Given the description of an element on the screen output the (x, y) to click on. 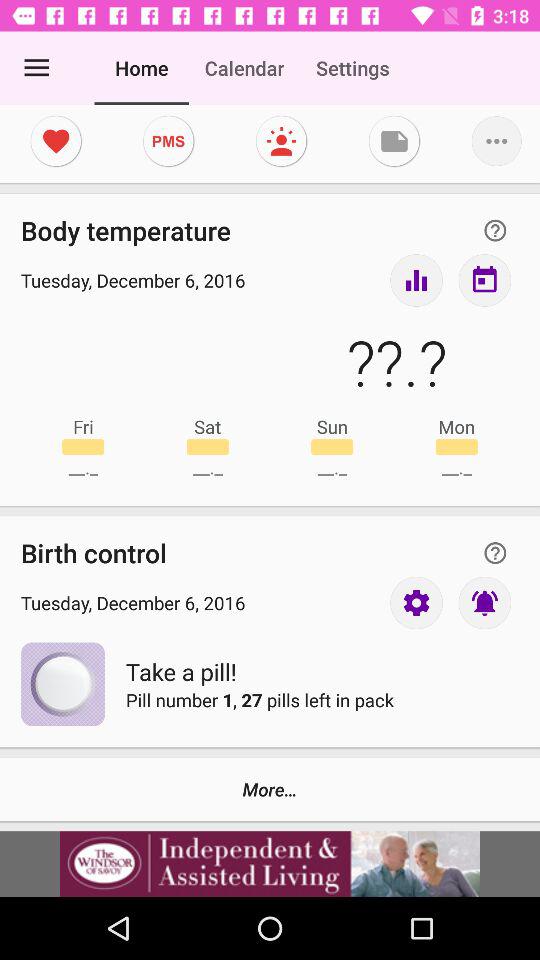
advertisement for assisted living (270, 864)
